Given the description of an element on the screen output the (x, y) to click on. 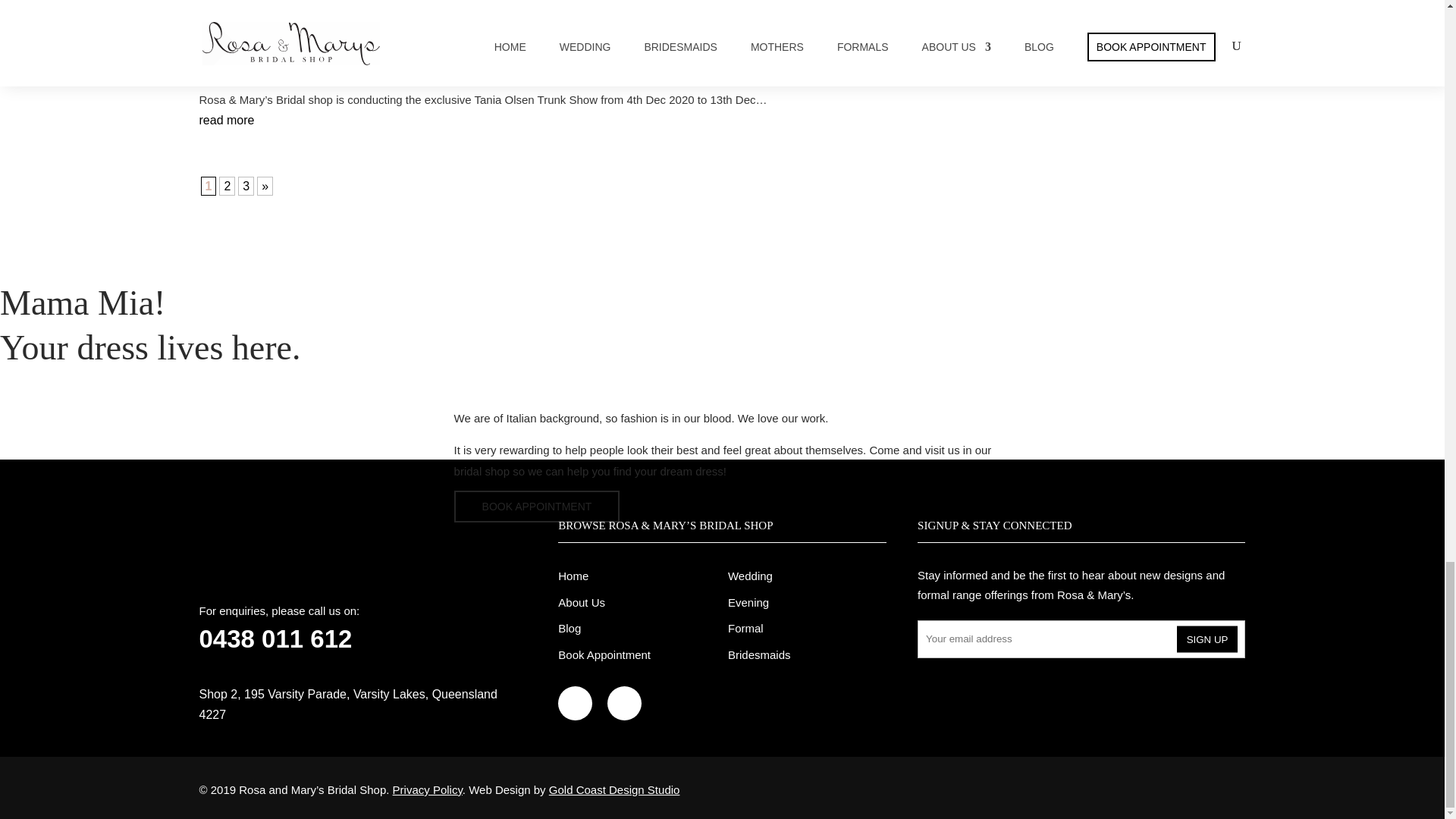
Blog (568, 627)
read more (225, 119)
Home (572, 575)
BOOK APPOINTMENT (537, 506)
Sign up (1207, 638)
0438 011 612 (275, 638)
Tania Olsen Trunk Show 2020 (411, 28)
Book Appointment (603, 654)
About Us (581, 602)
